Given the description of an element on the screen output the (x, y) to click on. 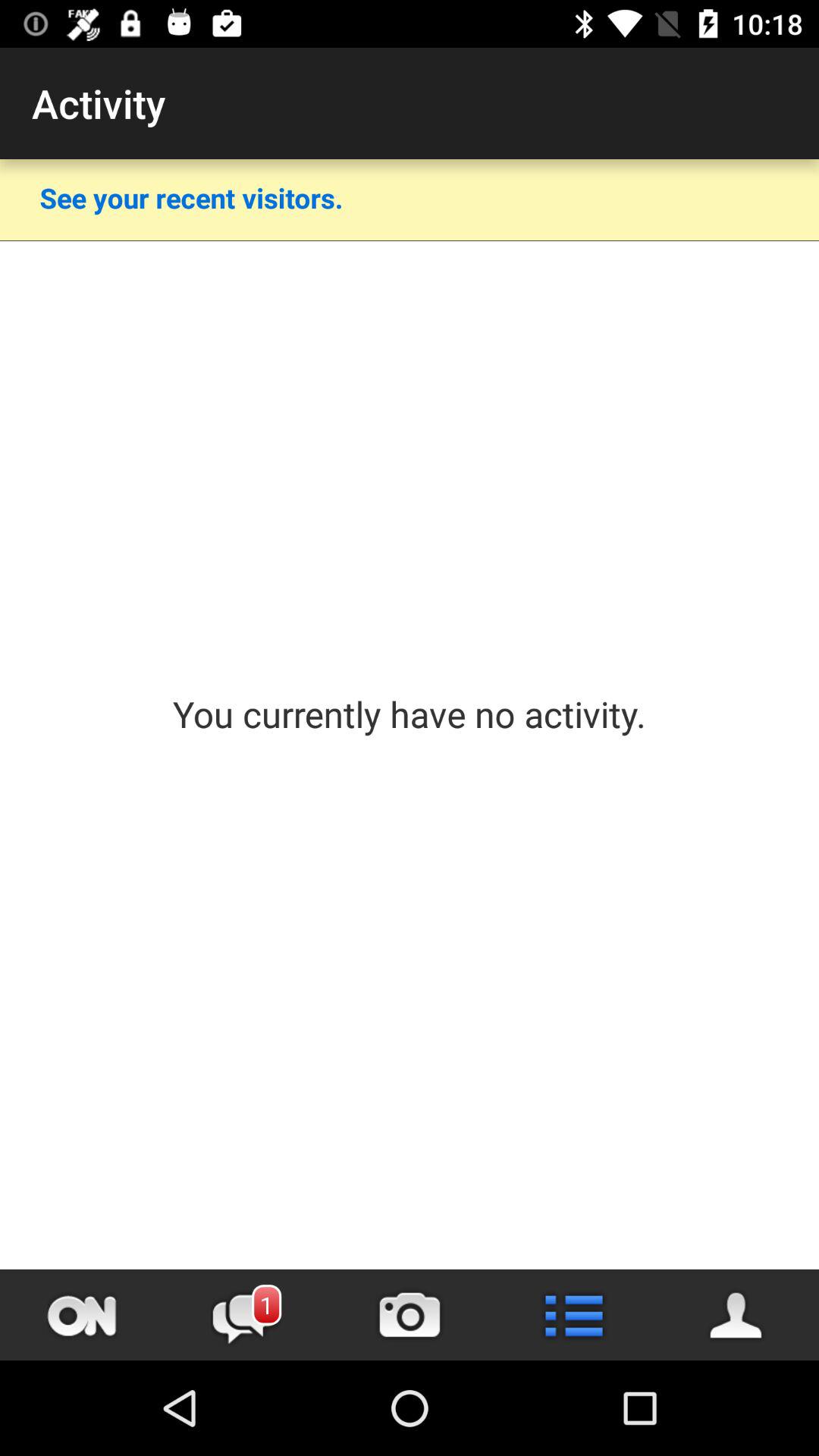
take picture (409, 1315)
